Given the description of an element on the screen output the (x, y) to click on. 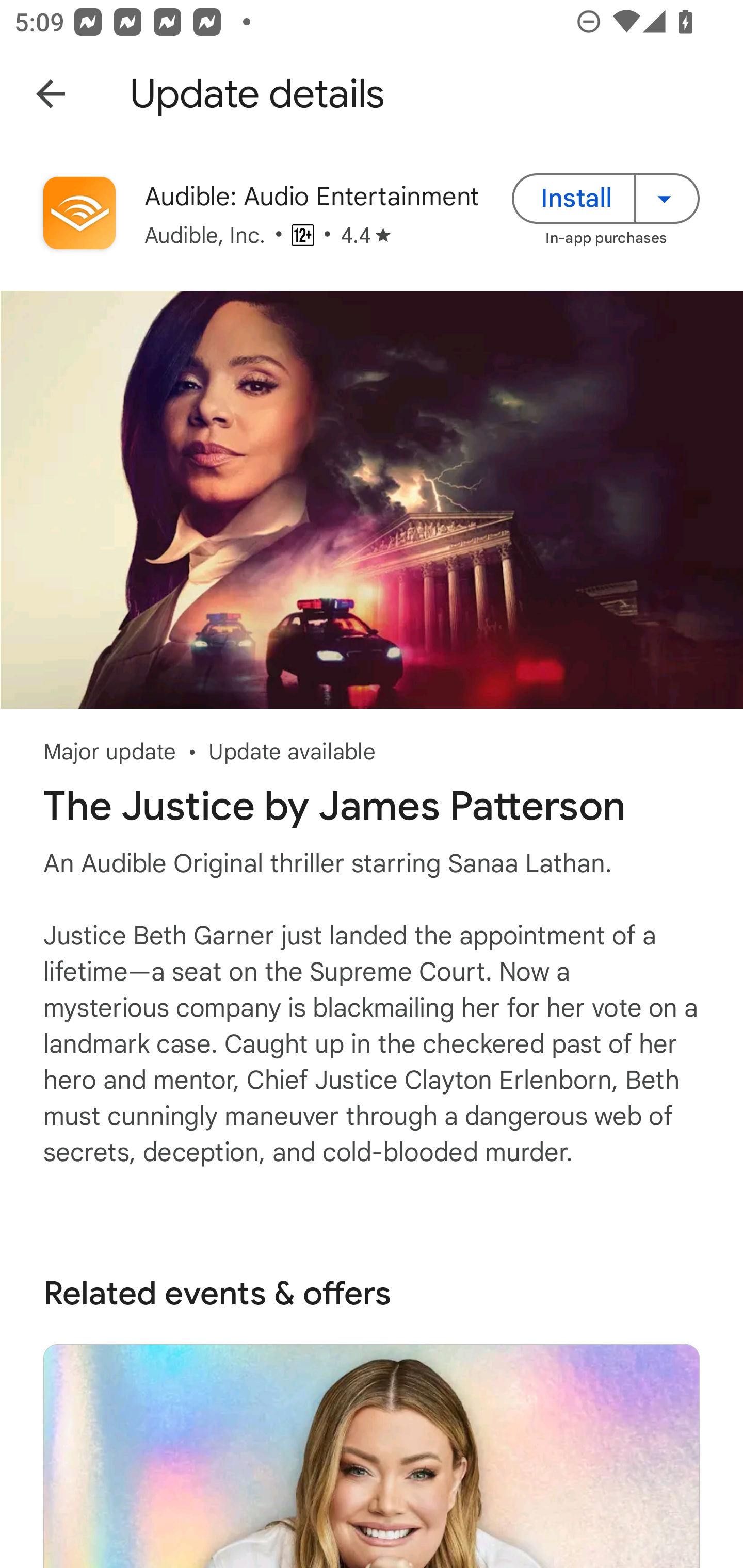
Navigate up (50, 93)
Install Install Install on more devices (605, 198)
Install on more devices (667, 198)
